Given the description of an element on the screen output the (x, y) to click on. 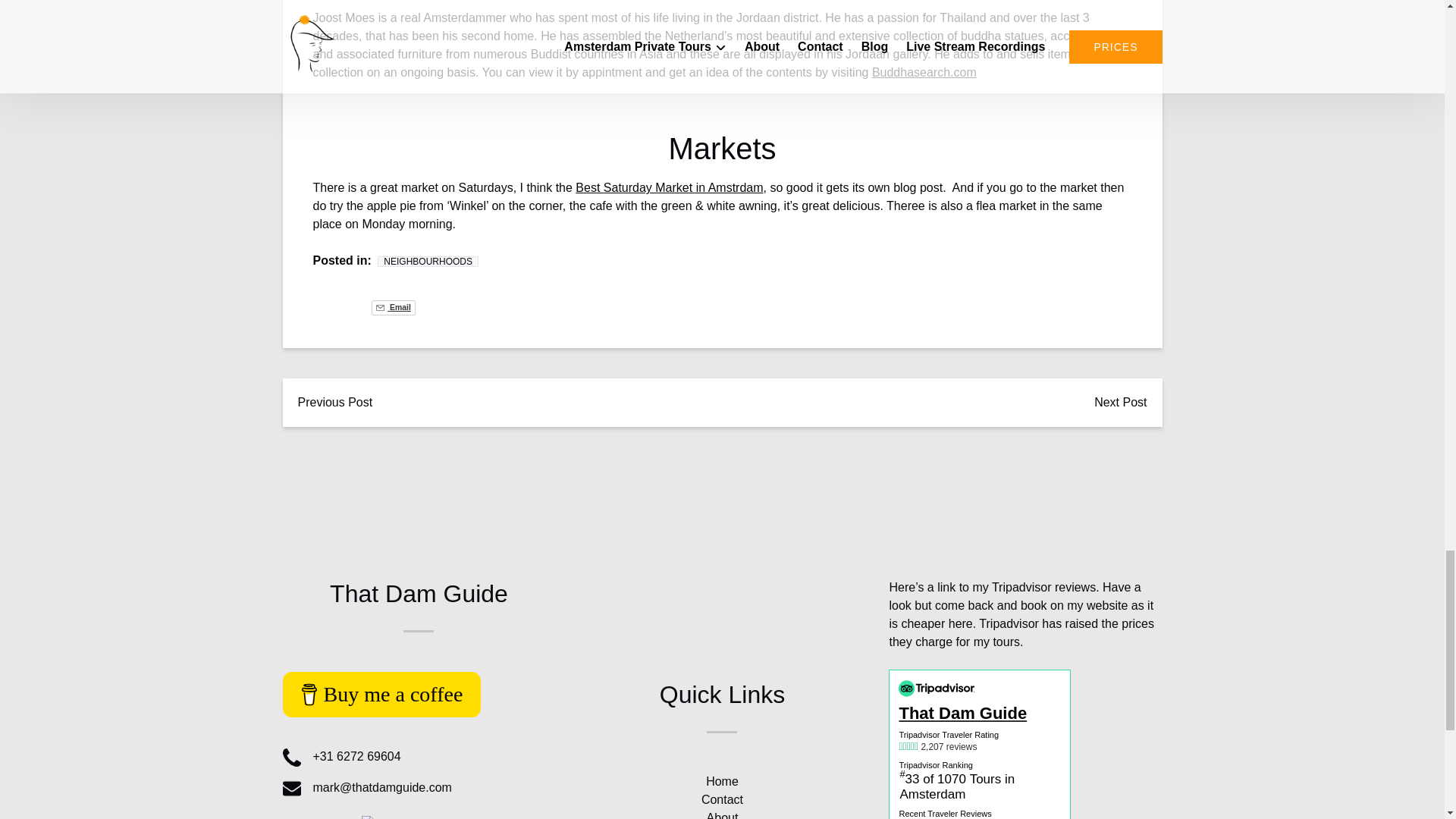
Contact (721, 799)
Email (392, 307)
NEIGHBOURHOODS (428, 261)
Phone (290, 757)
Buddhasearch.com (924, 72)
Previous Post (334, 402)
Click here to visit previous post (334, 402)
Envelope (290, 788)
Email this page to a friend. (392, 307)
Best Saturday Market in Amstrdam (668, 187)
Click here to learn more about neighbourhoods (428, 261)
Home (722, 780)
Buy me a coffee (381, 694)
Next Post (1119, 402)
